Given the description of an element on the screen output the (x, y) to click on. 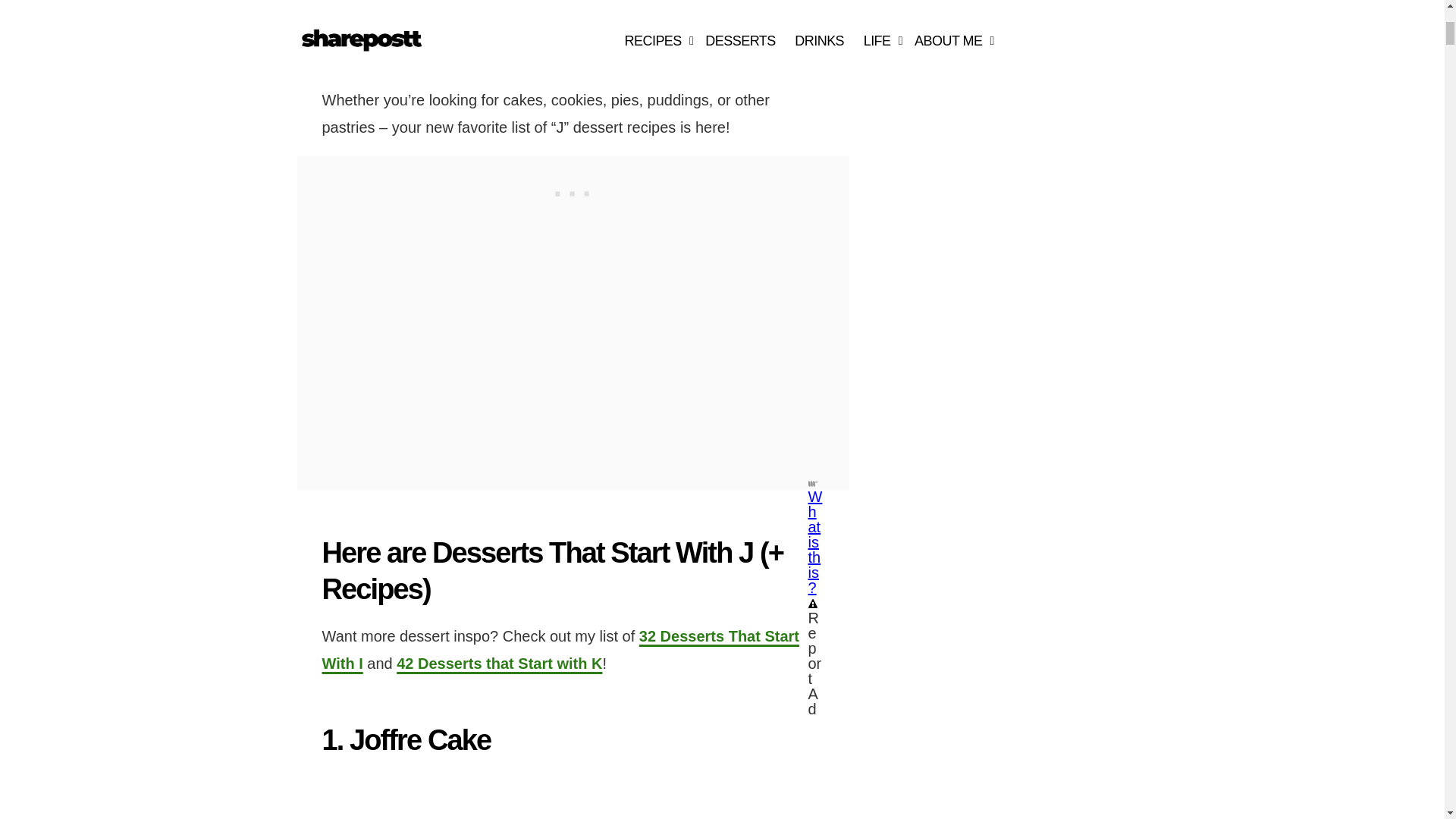
Tort Joffre (491, 796)
42 Desserts that Start with K (499, 663)
32 Desserts That Start With I (560, 649)
42 Desserts that Start with K (499, 663)
32 Desserts That Start With I (560, 649)
3rd party ad content (572, 190)
